Given the description of an element on the screen output the (x, y) to click on. 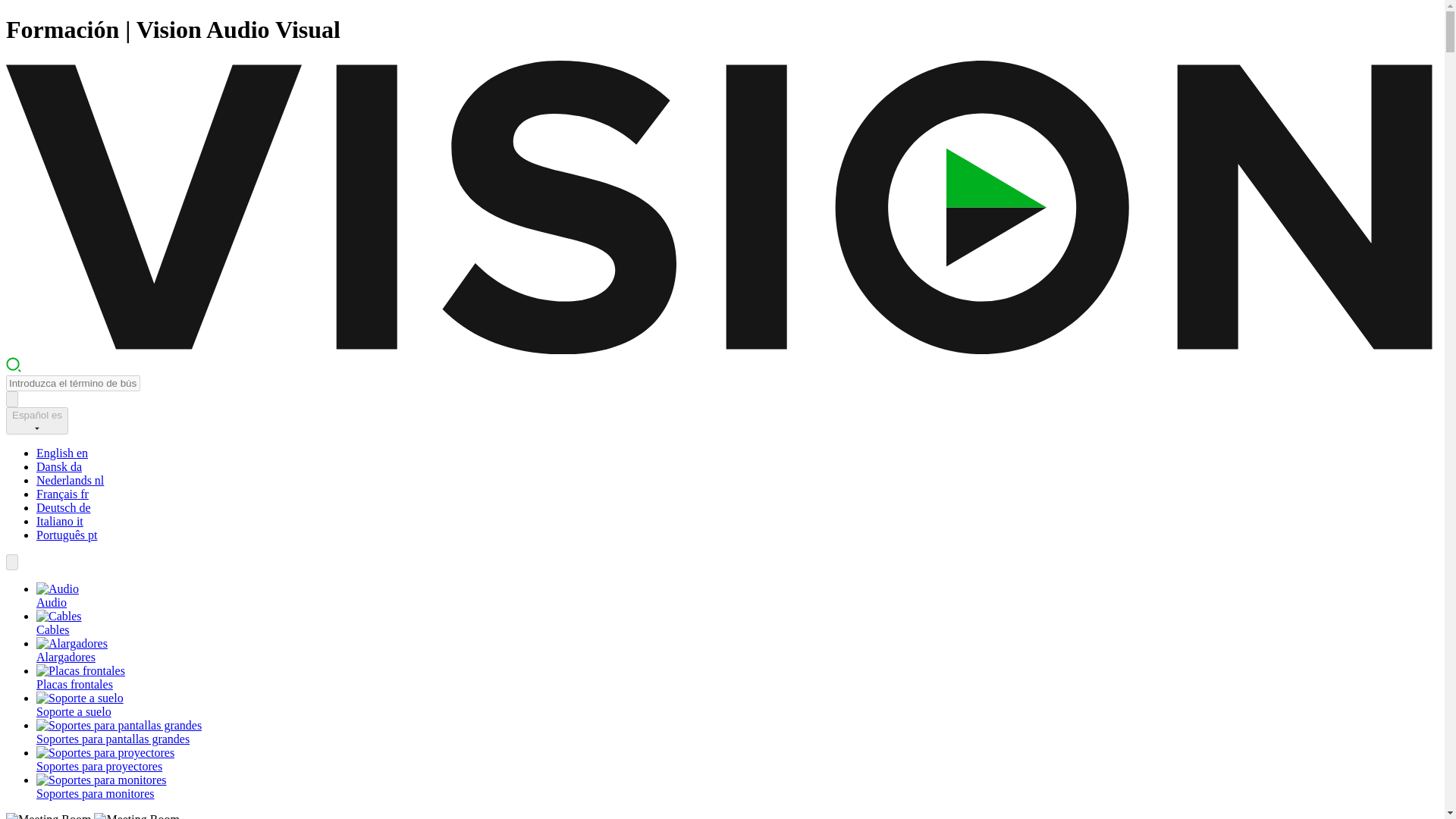
Deutsch de (63, 507)
Nederlands nl (69, 480)
Dansk da (58, 466)
Italiano it (59, 521)
English en (61, 452)
